Given the description of an element on the screen output the (x, y) to click on. 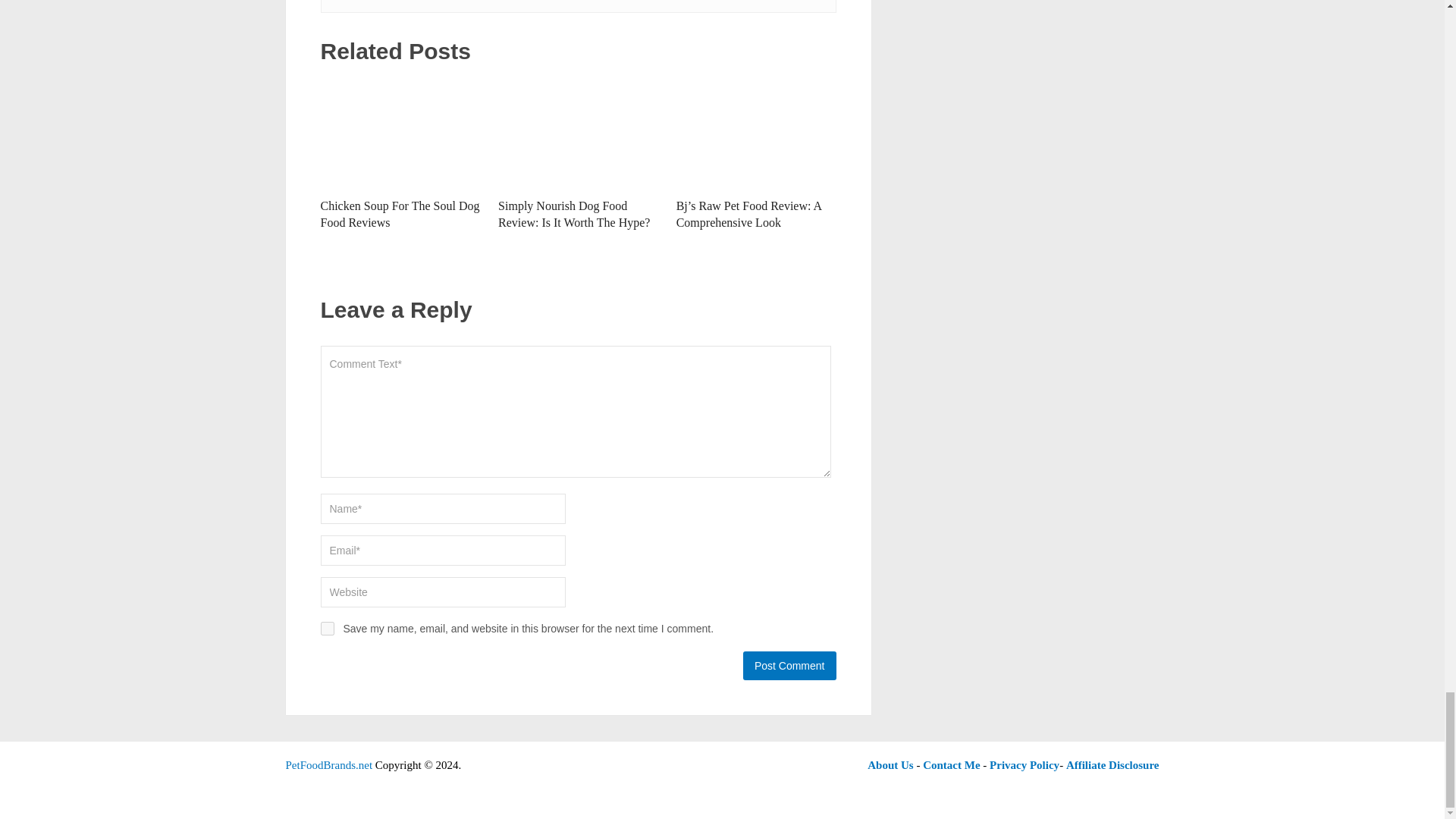
Chicken Soup For The Soul Dog Food Reviews (400, 133)
Chicken Soup For The Soul Dog Food Reviews (399, 214)
Simply Nourish Dog Food Review: Is It Worth The Hype? (573, 214)
Privacy Policy (1024, 765)
Contact Me (951, 765)
Affiliate Disclosure (1111, 765)
Chicken Soup For The Soul Dog Food Reviews (399, 214)
Simply Nourish Dog Food Review: Is It Worth The Hype? (573, 214)
About Us (889, 765)
yes (326, 628)
Post Comment (788, 665)
PetFoodBrands.net (328, 765)
Post Comment (788, 665)
Simply Nourish Dog Food Review: Is It Worth The Hype? (577, 133)
